Given the description of an element on the screen output the (x, y) to click on. 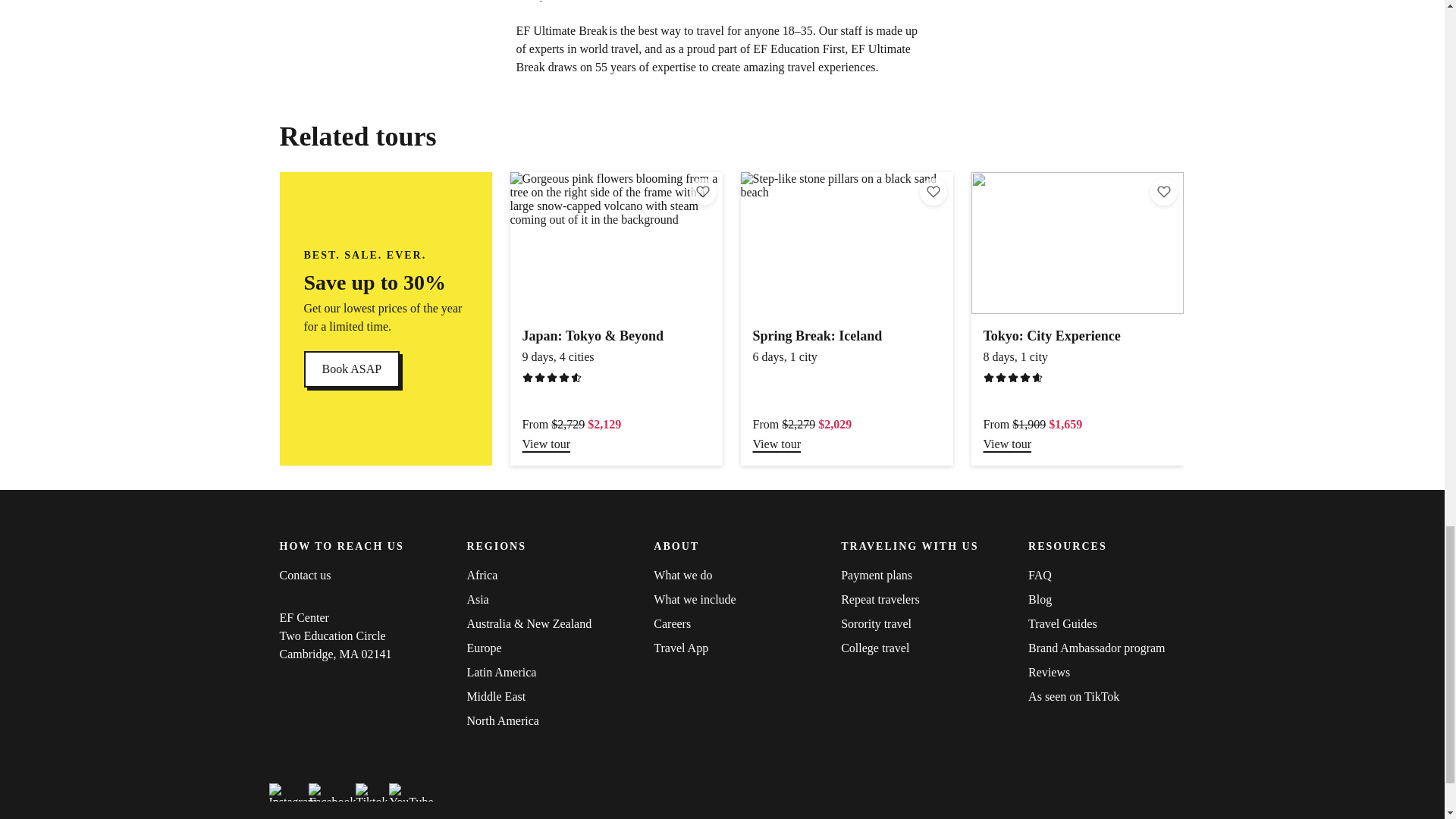
Add to wishlist: Spring Break: Iceland (350, 369)
Add to wishlist: Tokyo: City Experience (932, 191)
Skip to end of carousel (1163, 191)
